Given the description of an element on the screen output the (x, y) to click on. 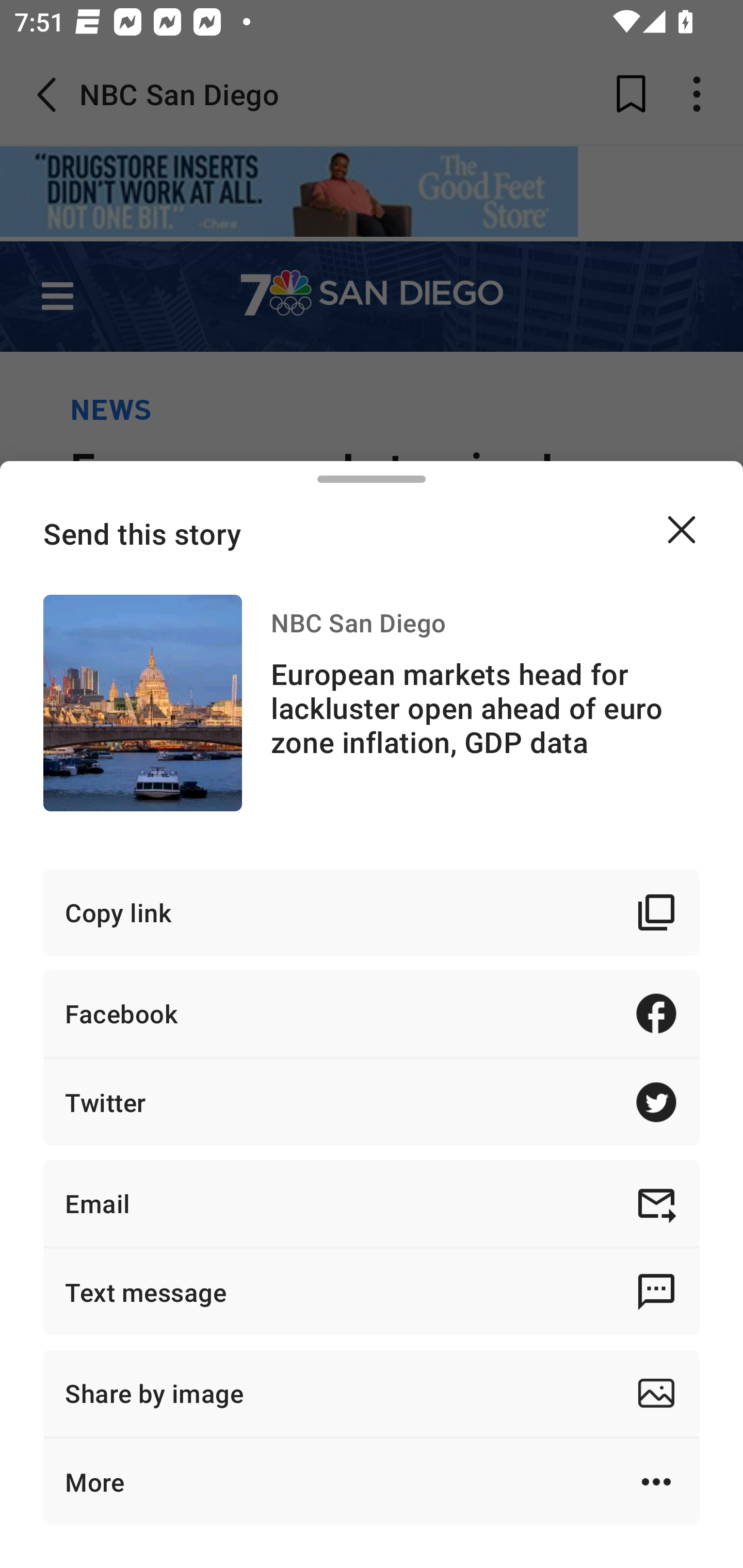
Copy link (371, 912)
Facebook (371, 1013)
Twitter (371, 1102)
Email (371, 1203)
Text message (371, 1291)
Share by image (371, 1393)
More (371, 1481)
